Given the description of an element on the screen output the (x, y) to click on. 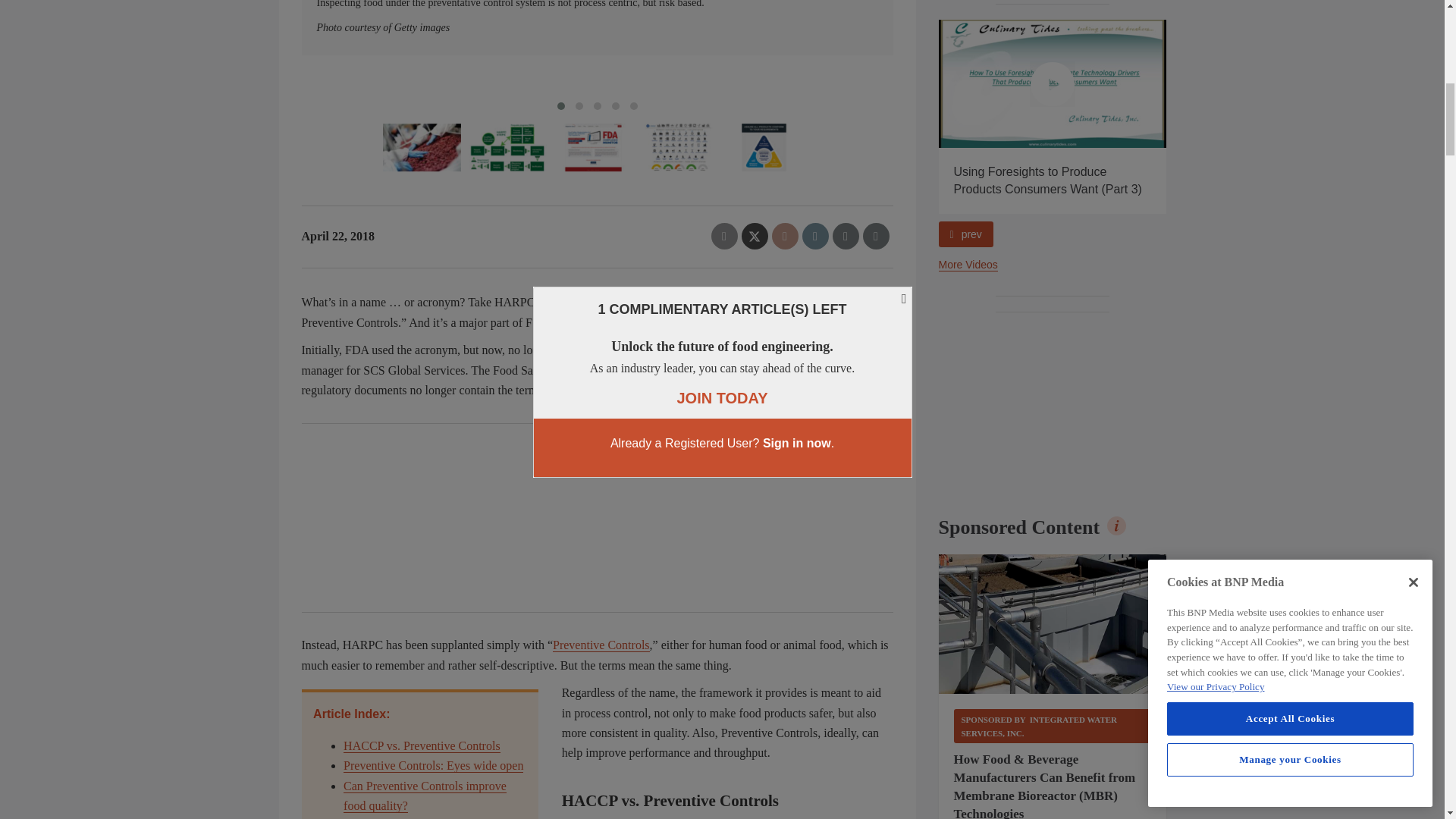
Celebrating Women in Engineering: Jayme Laser (825, 83)
Sponsored by Integrated Water Services, Inc. (1052, 725)
MBR (1052, 623)
